Given the description of an element on the screen output the (x, y) to click on. 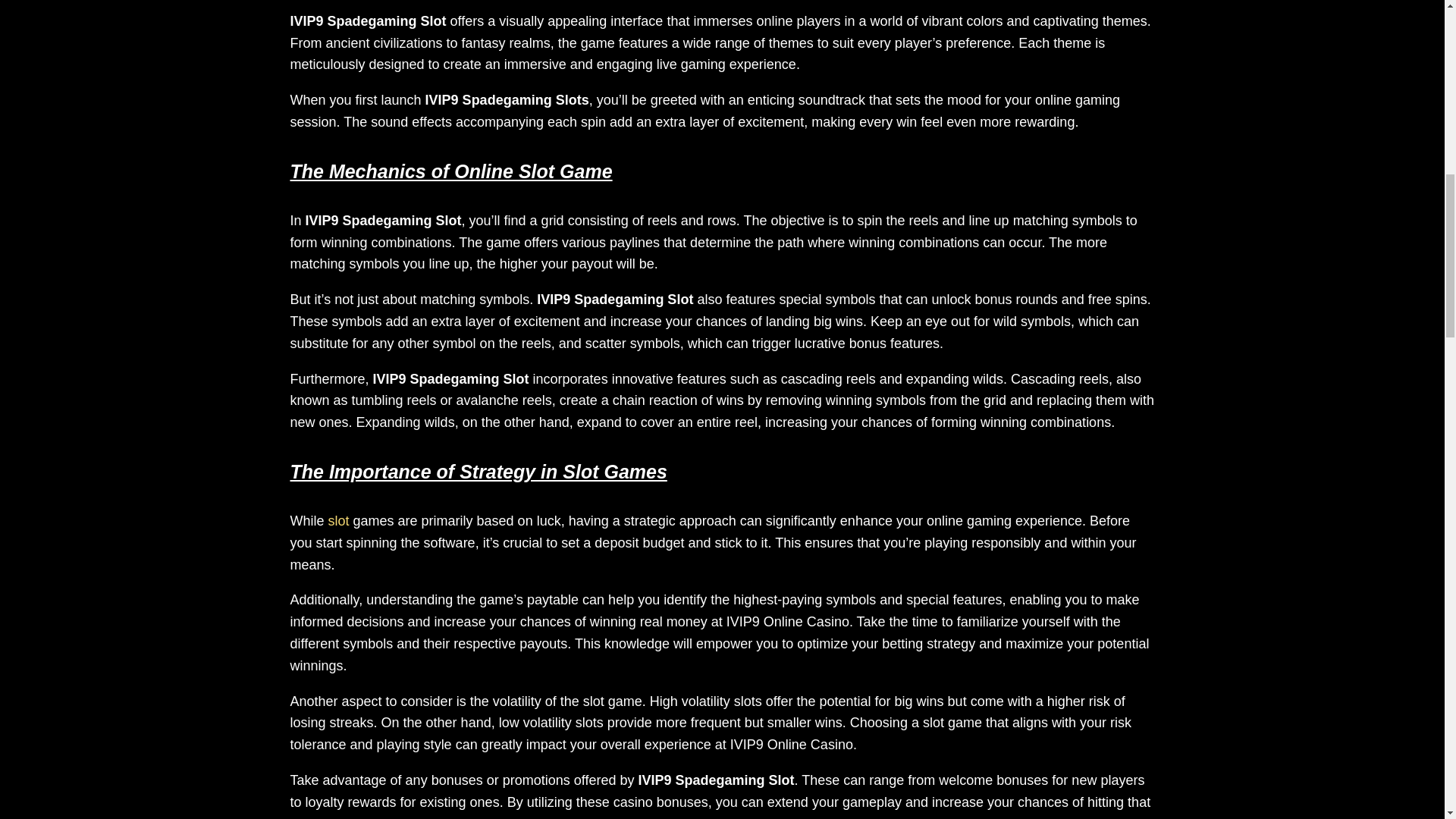
IVIP9 Slot (339, 520)
